Given the description of an element on the screen output the (x, y) to click on. 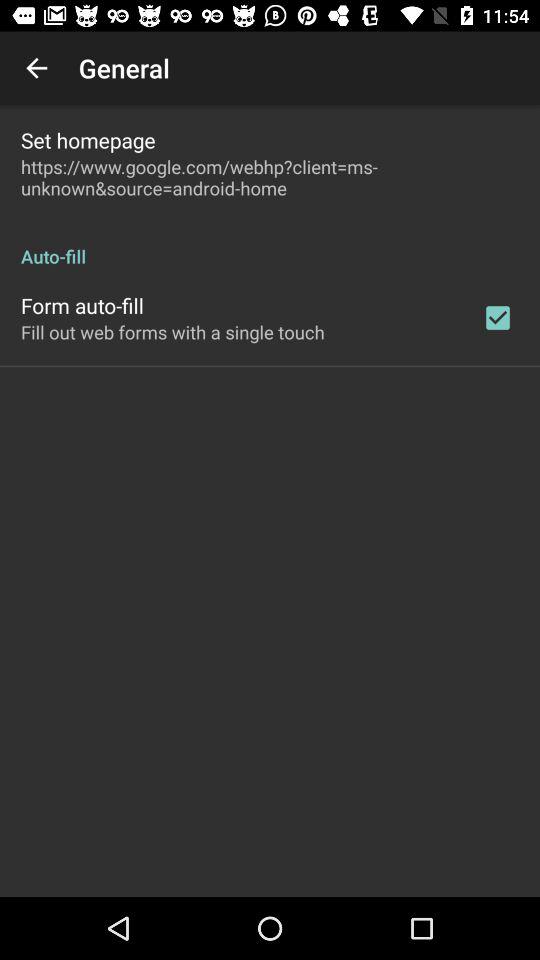
launch icon below the form auto-fill item (172, 331)
